Given the description of an element on the screen output the (x, y) to click on. 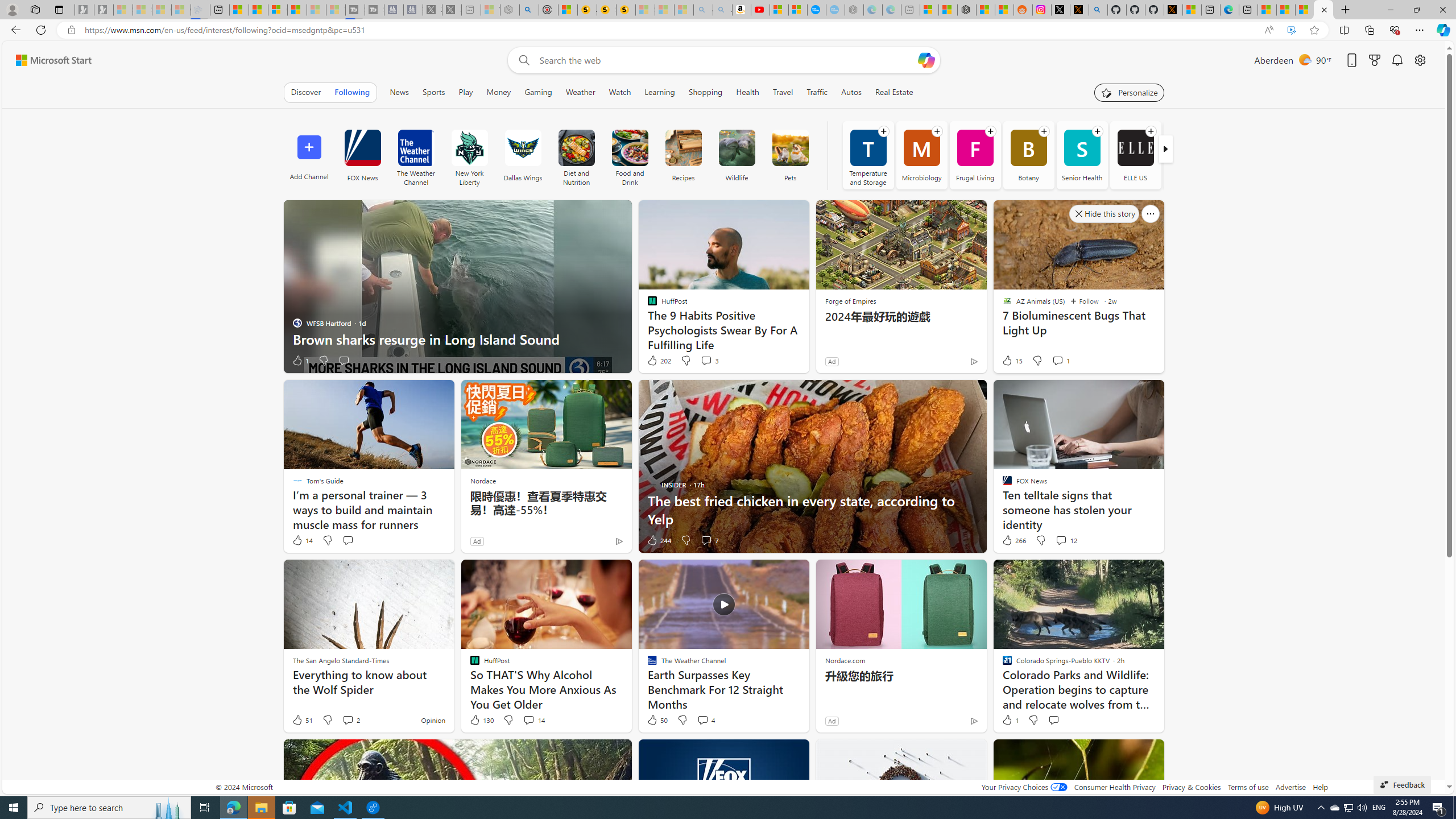
Recipes (683, 155)
Real Estate (893, 92)
github - Search (1098, 9)
Follow channel (1150, 130)
Sports (434, 92)
Nordace - Nordace has arrived Hong Kong - Sleeping (853, 9)
